Given the description of an element on the screen output the (x, y) to click on. 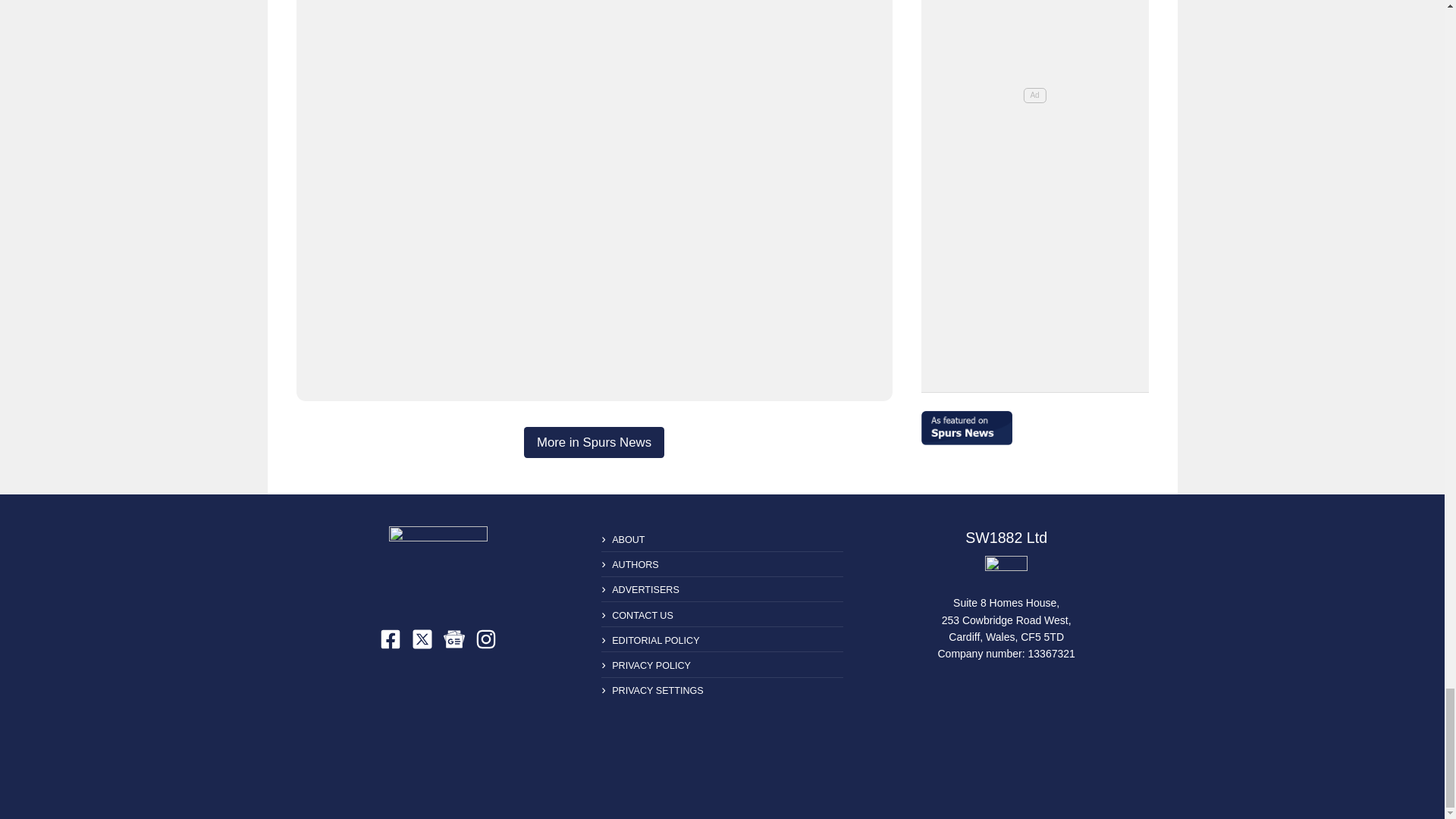
The Spurs Web - Tottenham Hotspur Football News (438, 565)
Spurs Web (1005, 572)
The Spurs Web - Tottenham Hotspur Football News on Instagram (486, 639)
The Spurs Web - Tottenham Hotspur Football News on Facebook (390, 639)
The Spurs Web - Tottenham Hotspur Football News on X (422, 639)
More in Spurs News (593, 441)
